Given the description of an element on the screen output the (x, y) to click on. 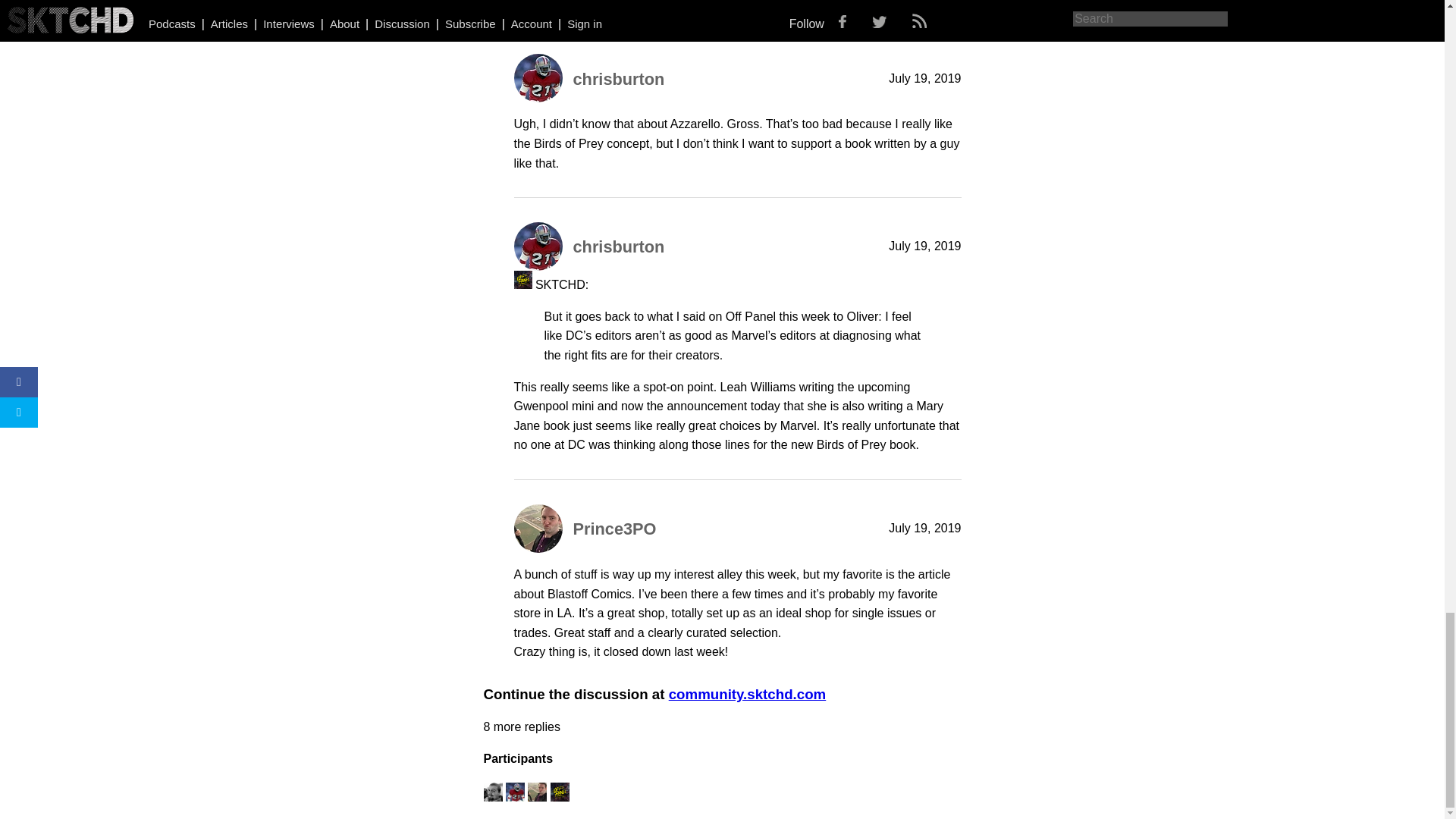
chrisburton (619, 78)
Prince3PO (614, 528)
chrisburton (619, 246)
community.sktchd.com (747, 693)
